Given the description of an element on the screen output the (x, y) to click on. 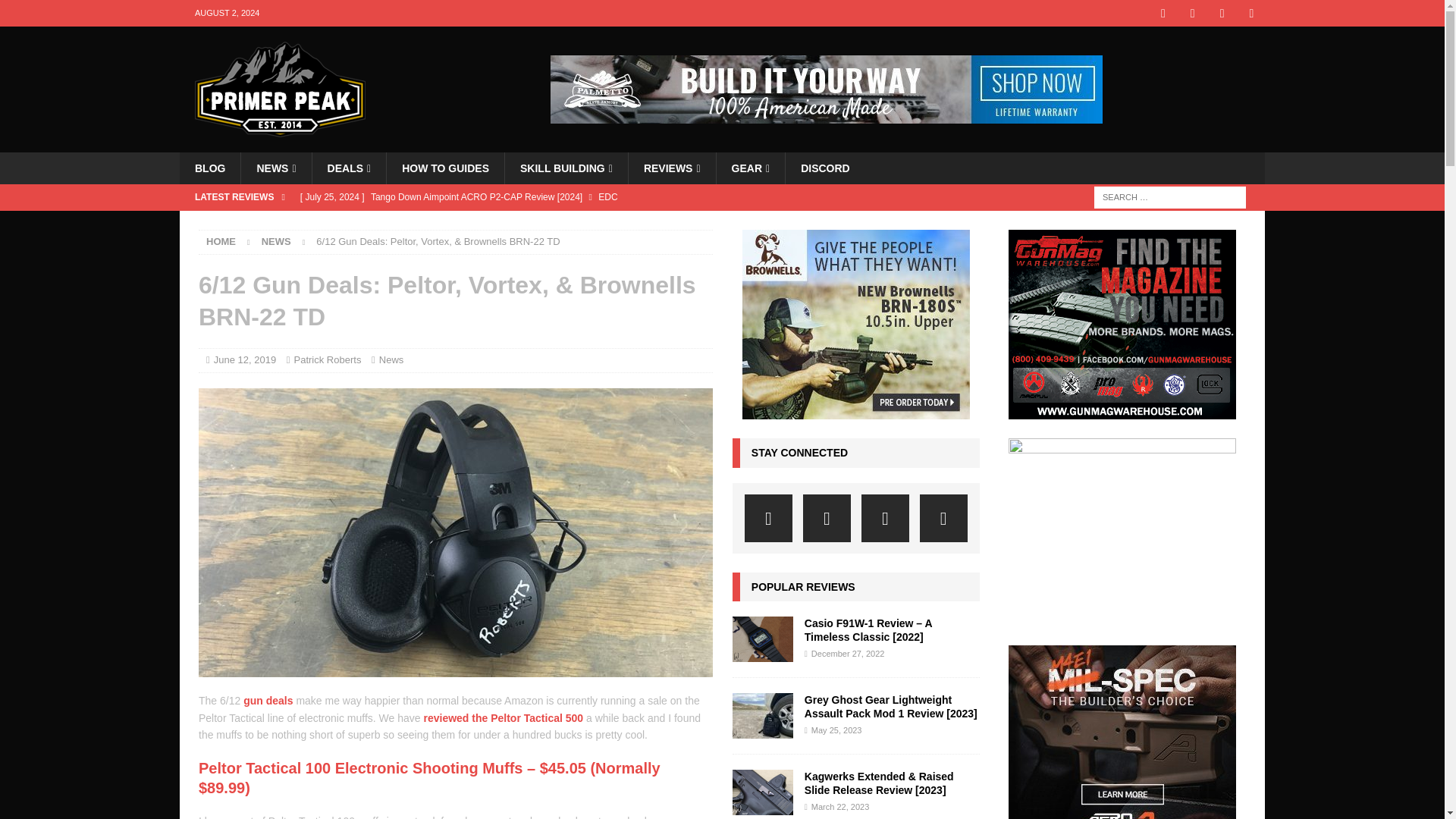
News (276, 241)
HOW TO GUIDES (444, 168)
Home (220, 241)
DEALS (349, 168)
GEAR (751, 168)
REVIEWS (671, 168)
SKILL BUILDING (565, 168)
NEWS (275, 168)
DISCORD (824, 168)
